Given the description of an element on the screen output the (x, y) to click on. 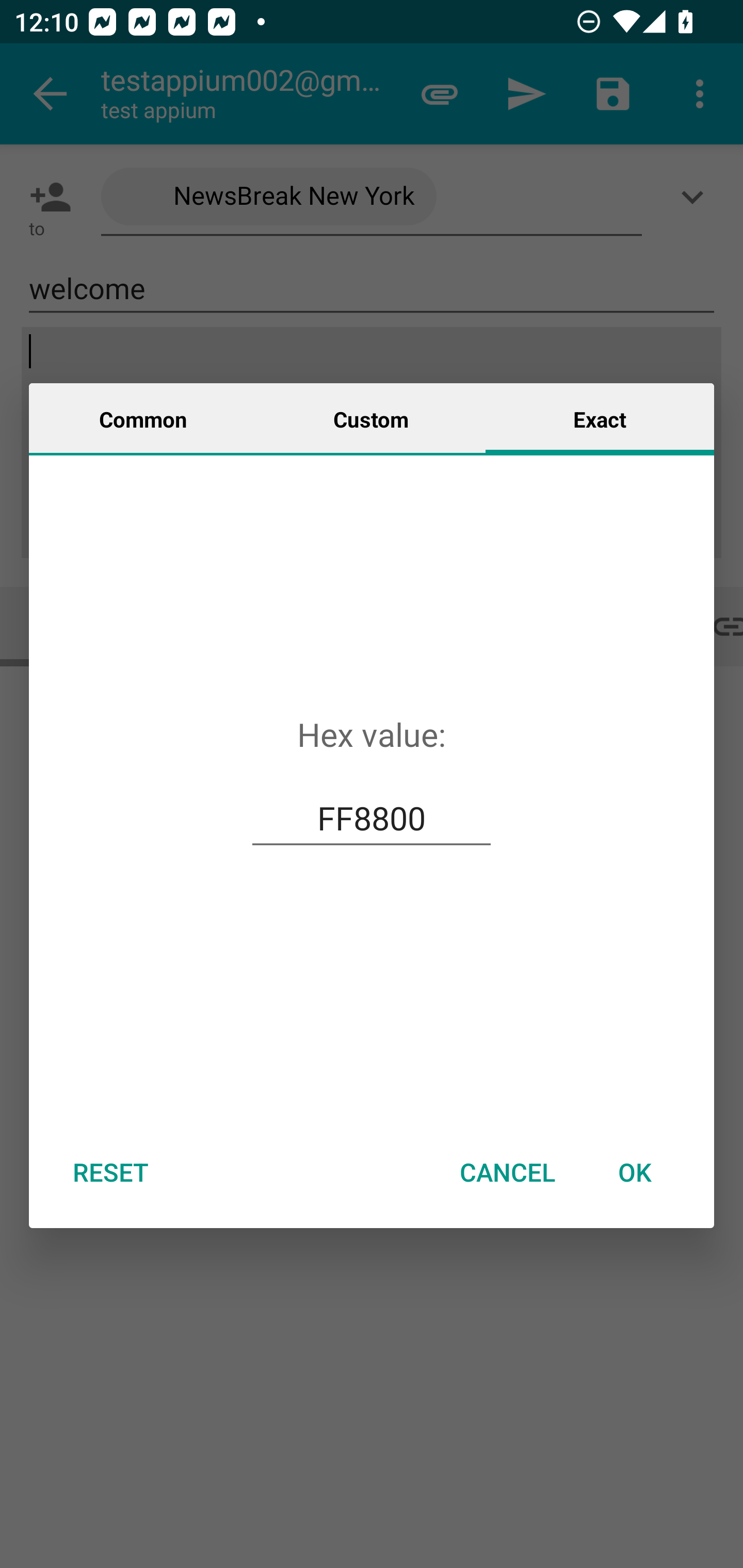
Common (142, 418)
Custom (371, 418)
Exact (599, 418)
FF8800 (371, 818)
RESET (110, 1171)
CANCEL (507, 1171)
OK (634, 1171)
